Given the description of an element on the screen output the (x, y) to click on. 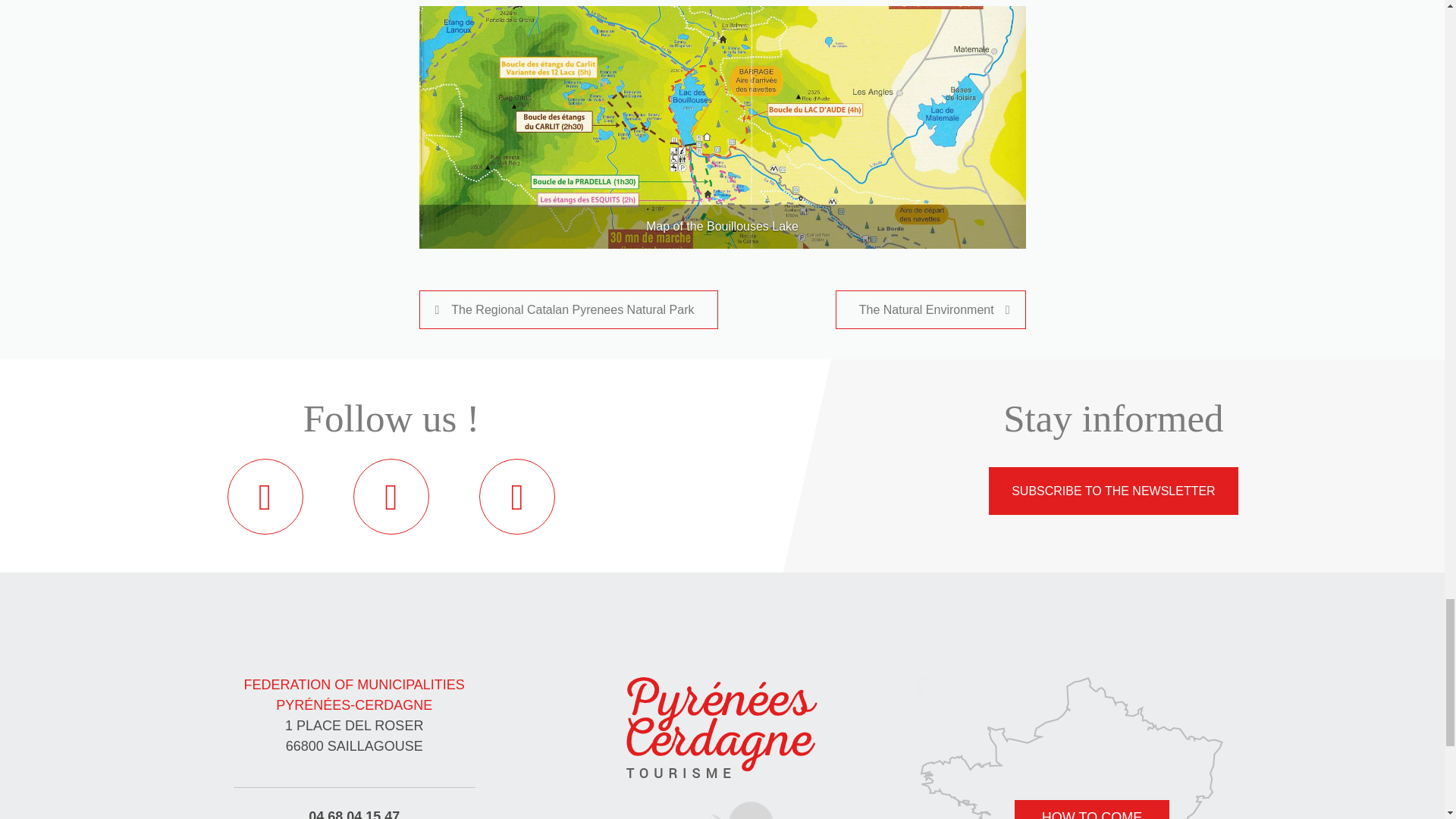
Find us on Facebook (264, 496)
Find us on Twitter (391, 496)
